Given the description of an element on the screen output the (x, y) to click on. 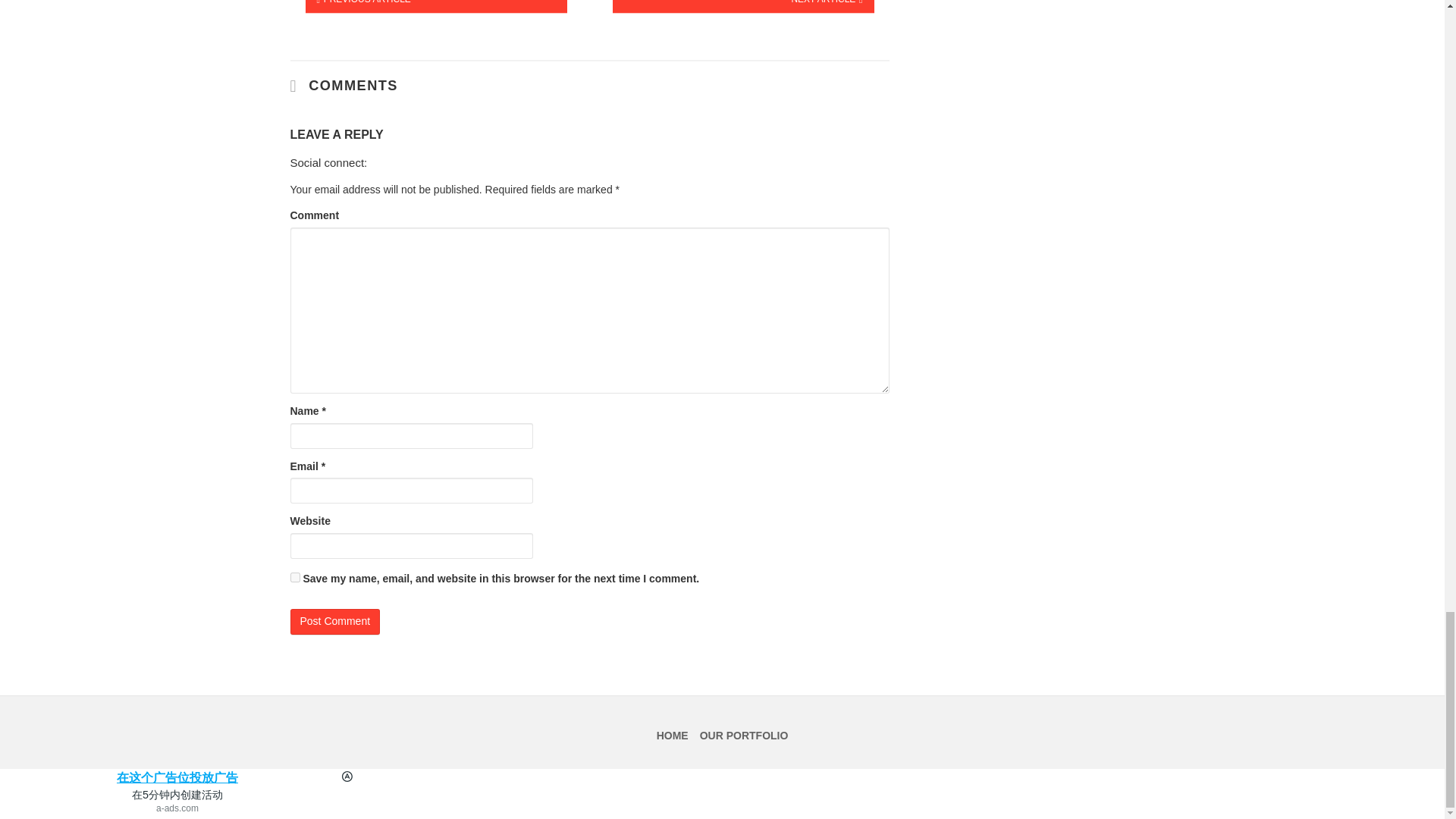
Post Comment (334, 621)
yes (294, 577)
